Given the description of an element on the screen output the (x, y) to click on. 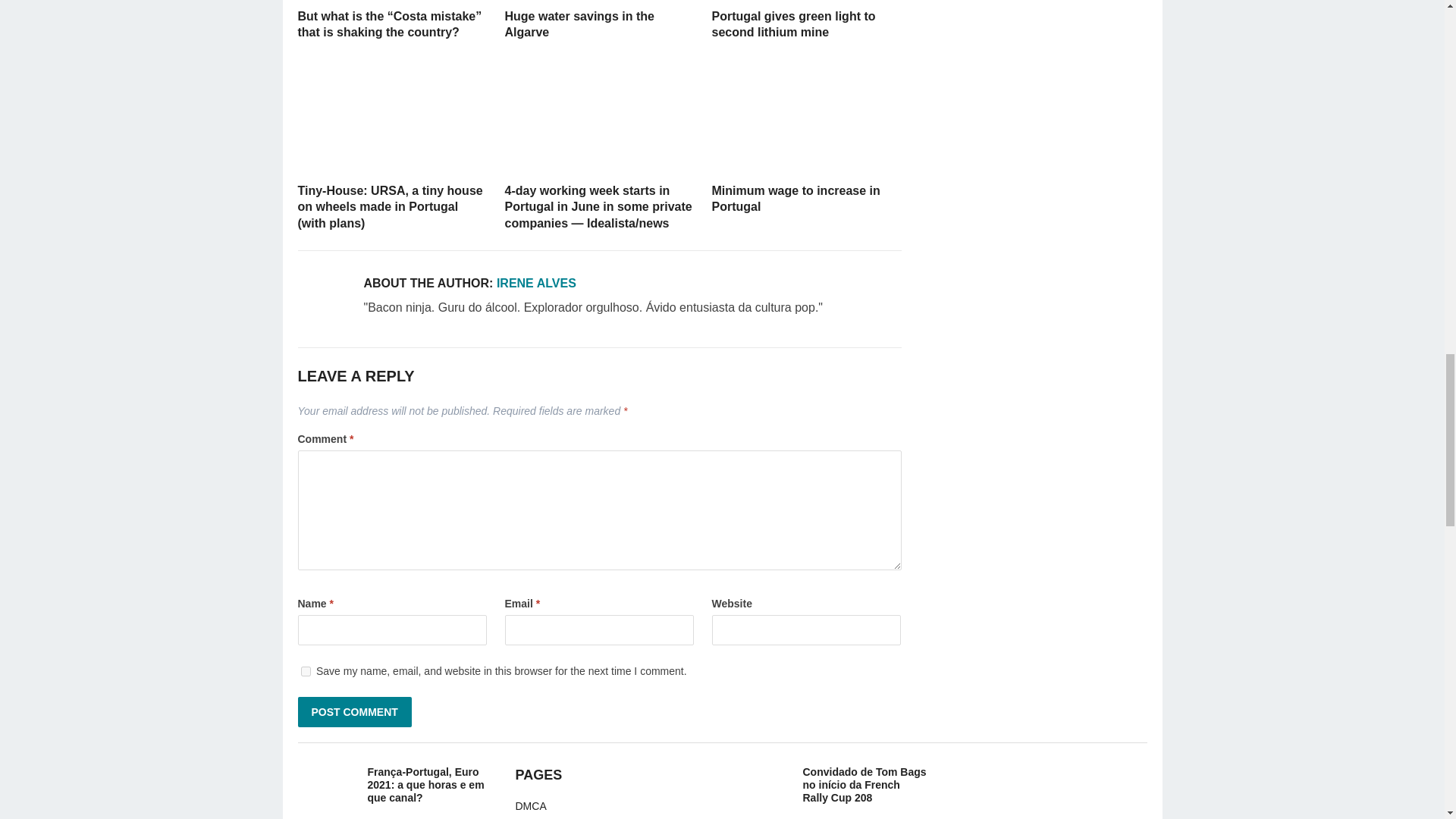
Post Comment (353, 711)
yes (304, 671)
Minimum wage to increase in Portugal (805, 116)
